Given the description of an element on the screen output the (x, y) to click on. 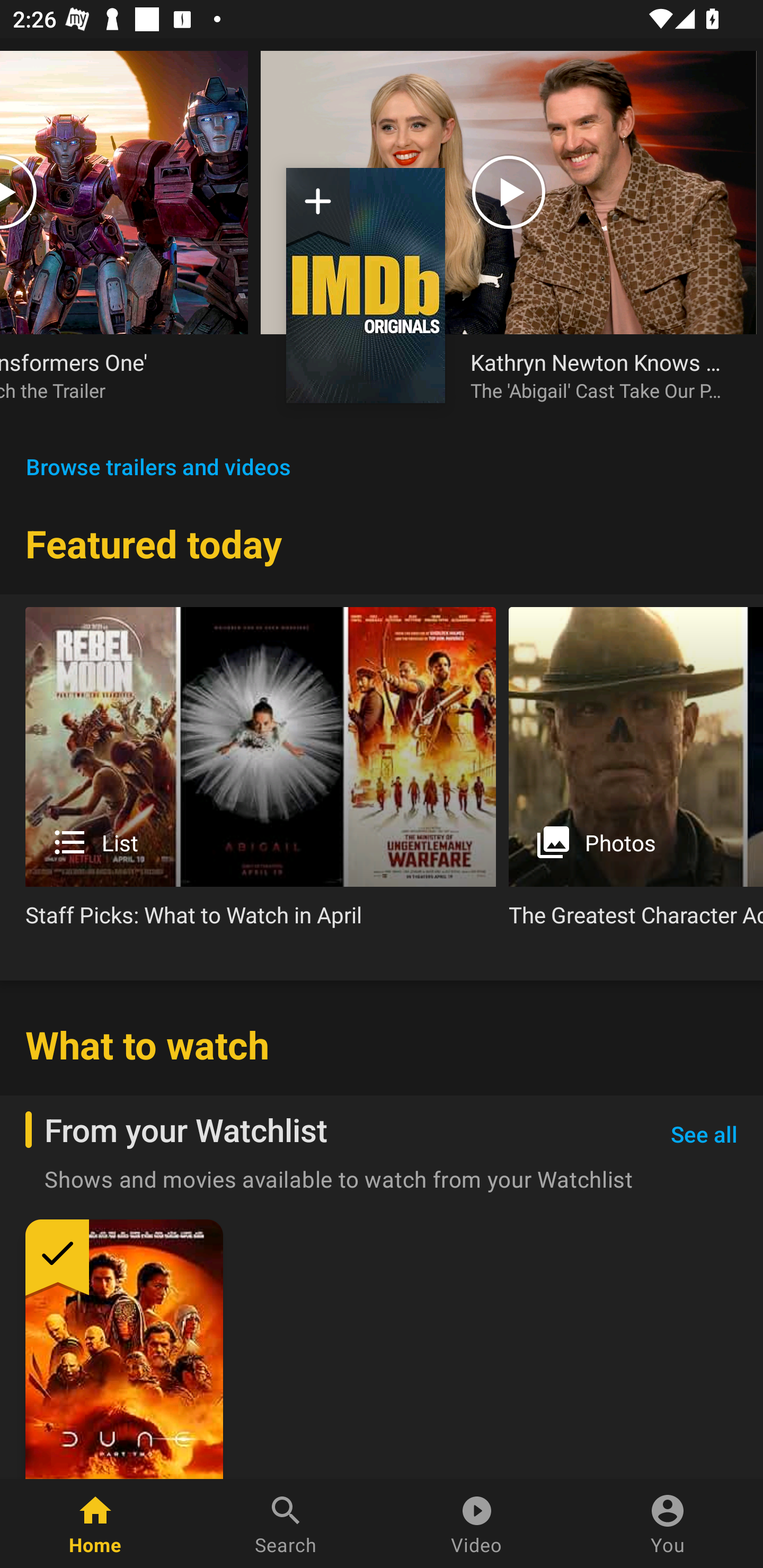
'Transformers One' Watch the Trailer (123, 239)
Not in watchlist (365, 284)
Not in watchlist (317, 207)
'Transformers One' Watch the Trailer (111, 374)
List Staff Picks: What to Watch in April (260, 774)
Photos The Greatest Character Actors of All Time (635, 774)
See all See all From your Watchlist (703, 1134)
Search (285, 1523)
Video (476, 1523)
You (667, 1523)
